Given the description of an element on the screen output the (x, y) to click on. 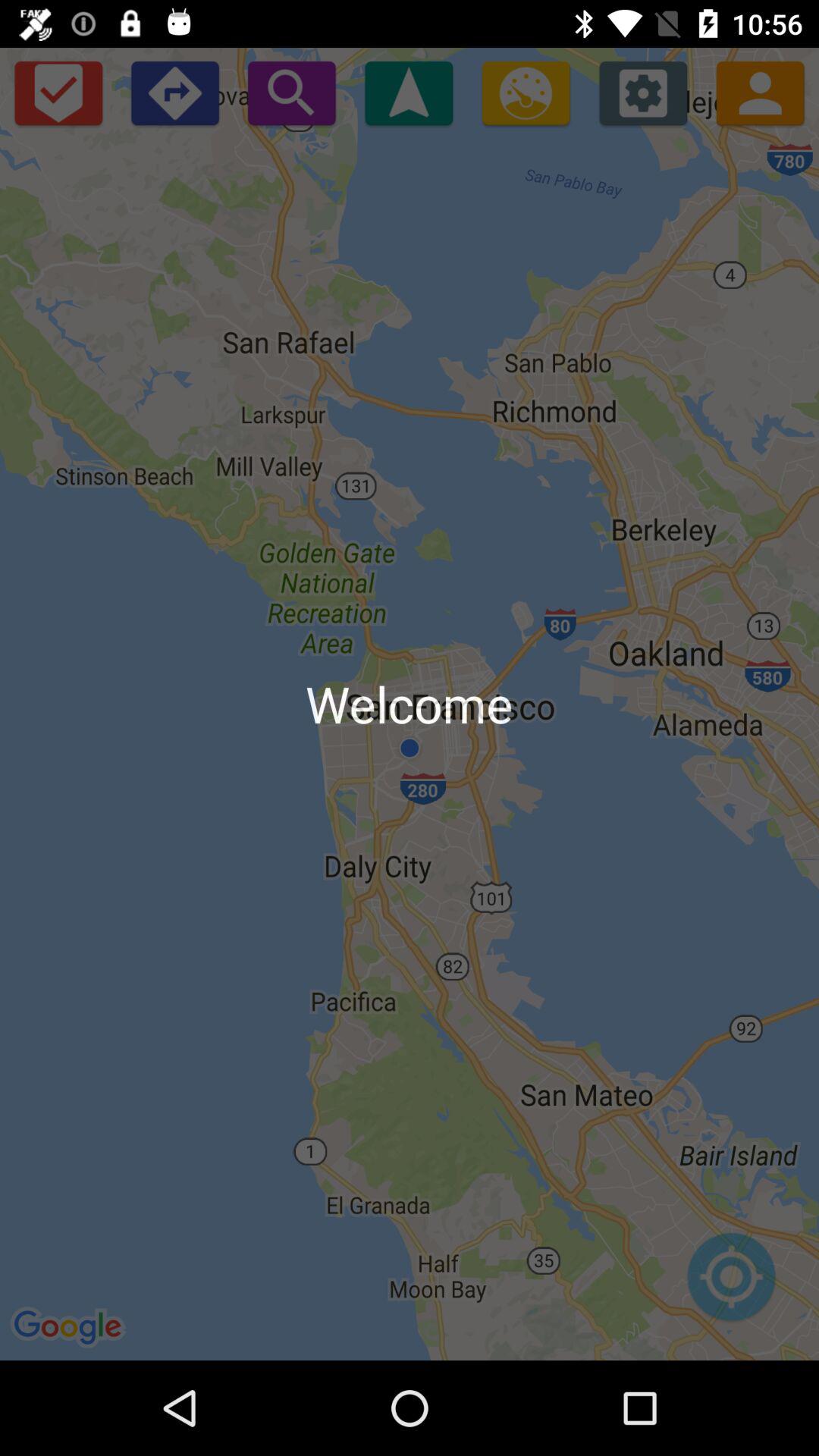
find direction (408, 92)
